Given the description of an element on the screen output the (x, y) to click on. 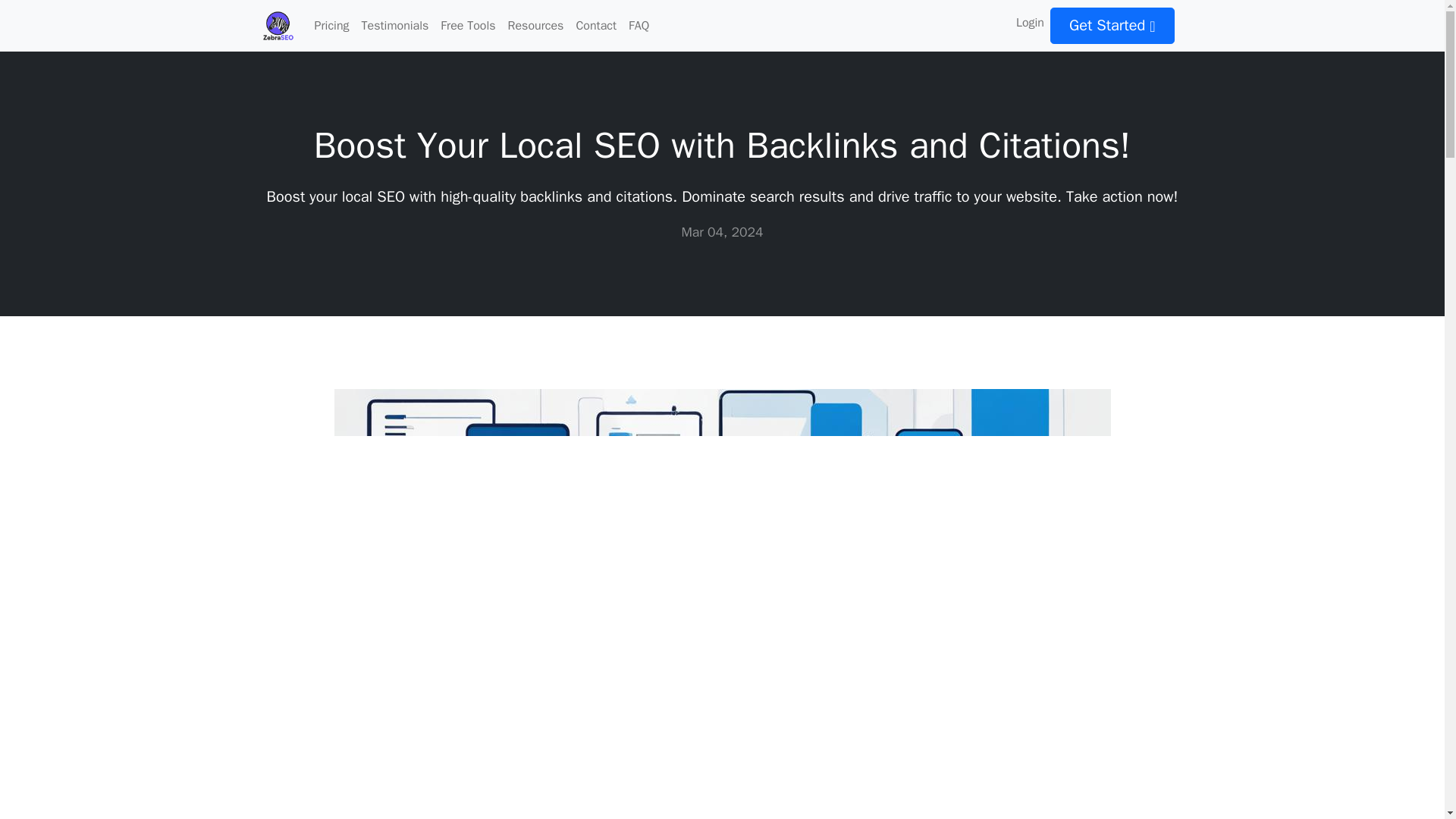
FAQ (639, 25)
Get Started (1111, 25)
Testimonials (395, 25)
Contact (596, 25)
Pricing (331, 25)
Free Tools (466, 25)
Resources (536, 25)
Login (1029, 22)
